Given the description of an element on the screen output the (x, y) to click on. 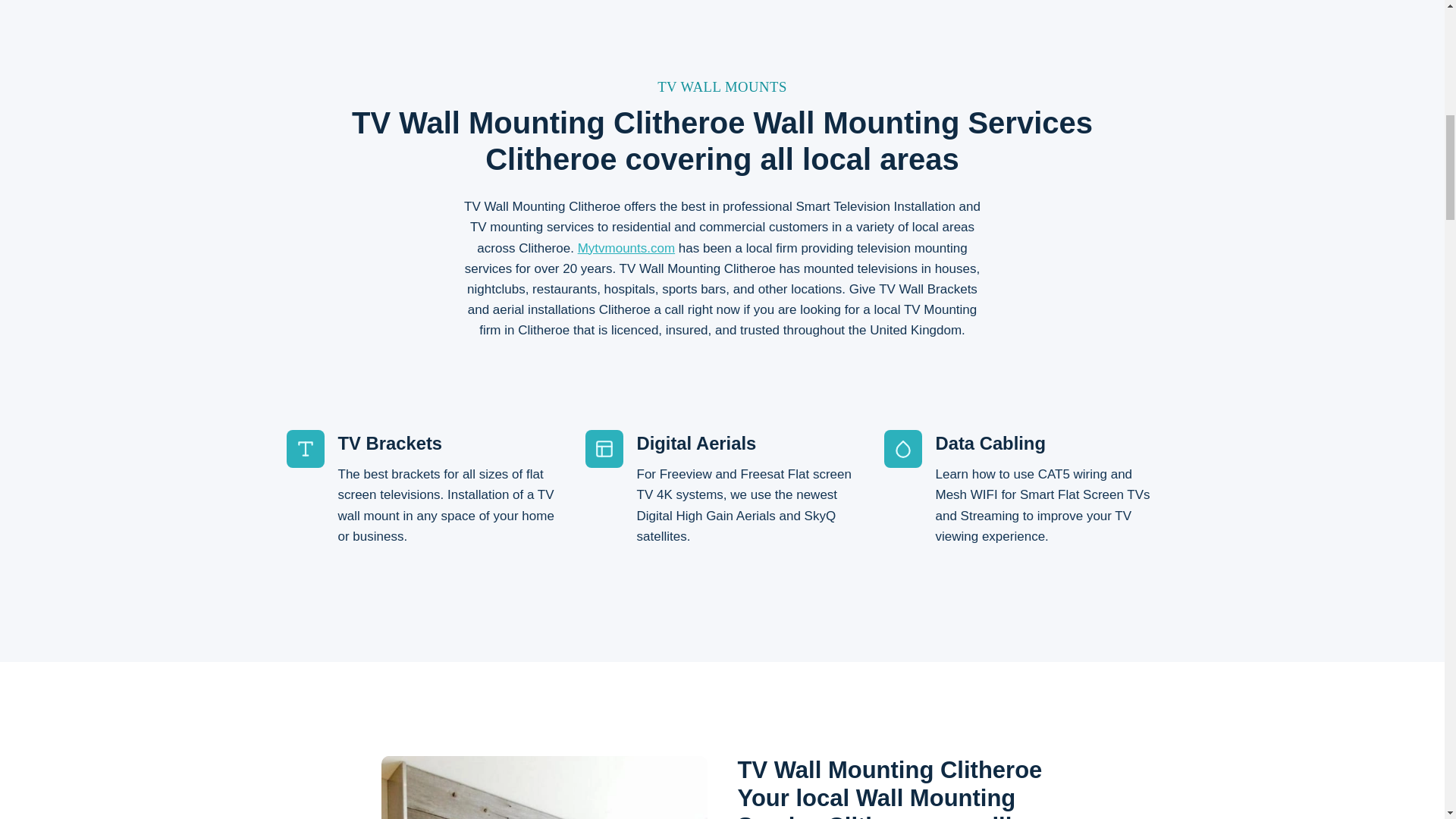
Mytvmounts.com (626, 247)
